Given the description of an element on the screen output the (x, y) to click on. 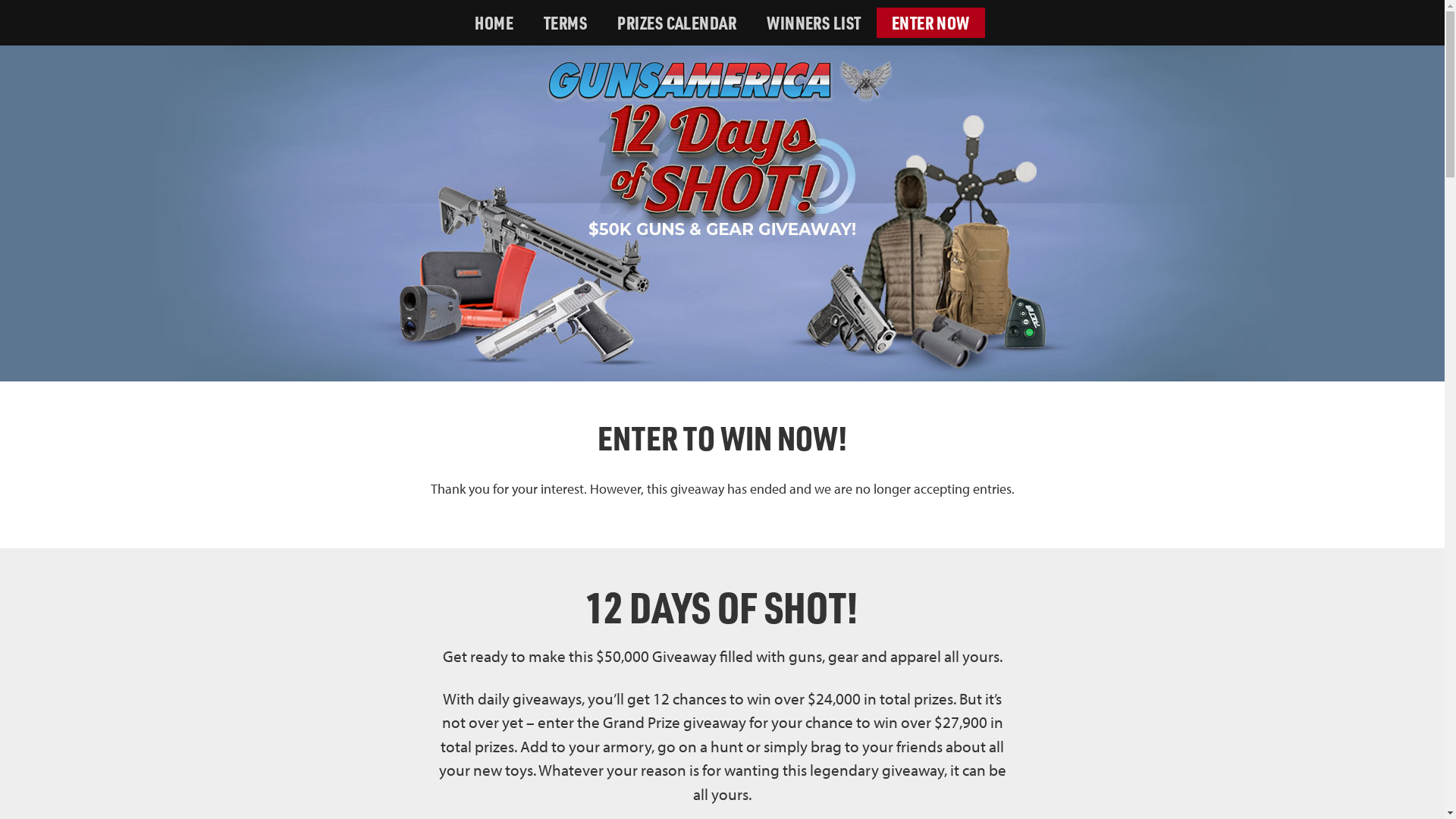
TERMS Element type: text (565, 22)
ENTER NOW Element type: text (930, 22)
HOME Element type: text (493, 22)
PRIZES CALENDAR Element type: text (676, 22)
WINNERS LIST Element type: text (813, 22)
